Given the description of an element on the screen output the (x, y) to click on. 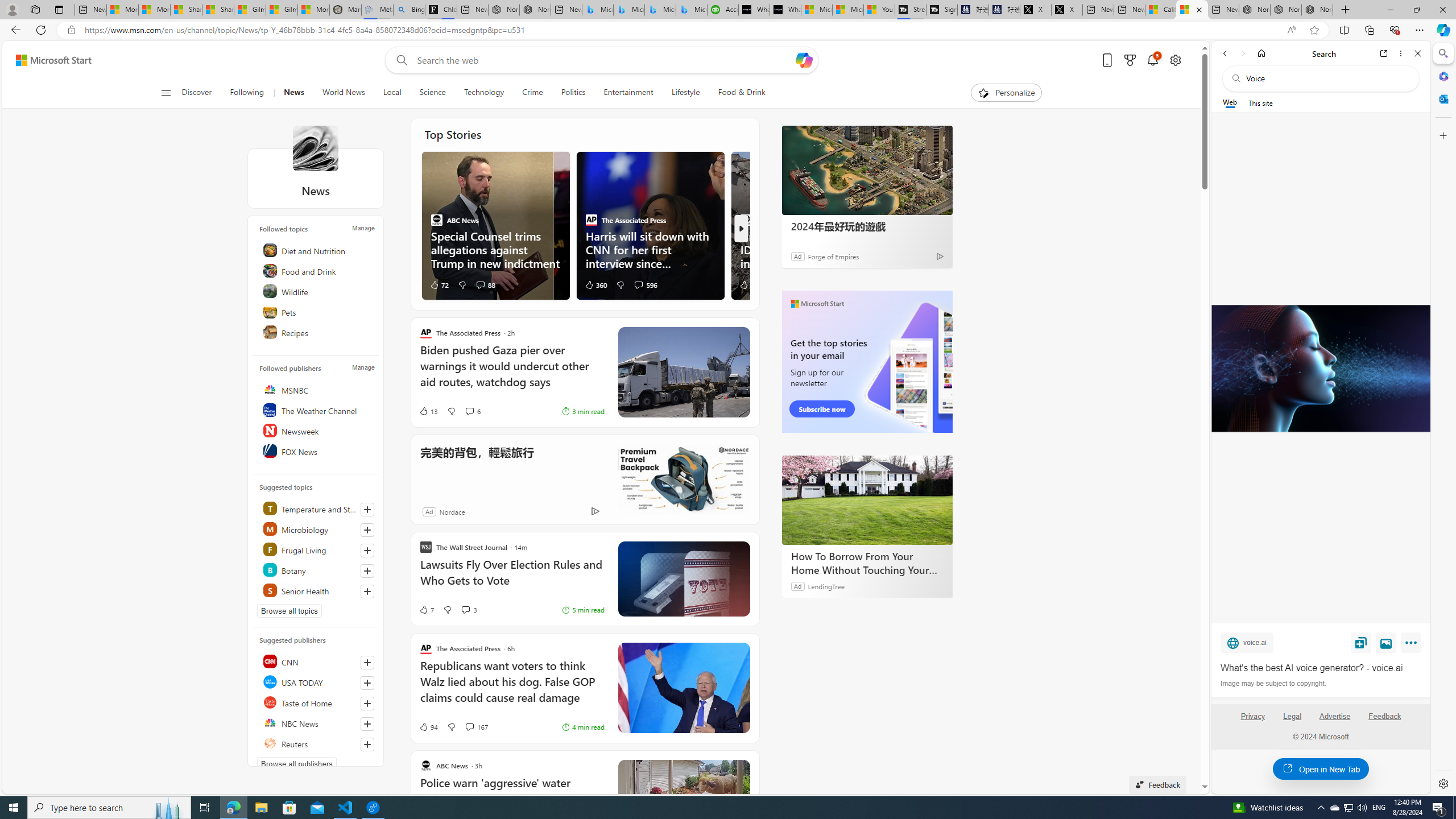
NBC News (317, 723)
How To Borrow From Your Home Without Touching Your Mortgage (866, 562)
Follow this source (367, 744)
360 Like (595, 284)
Forge of Empires (833, 256)
Local (391, 92)
Food and Drink (317, 270)
Open navigation menu (164, 92)
Recipes (317, 331)
Nordace - Siena Pro 15 Essential Set (1317, 9)
Outlook (1442, 98)
13 Like (427, 410)
Feedback (1384, 720)
